Given the description of an element on the screen output the (x, y) to click on. 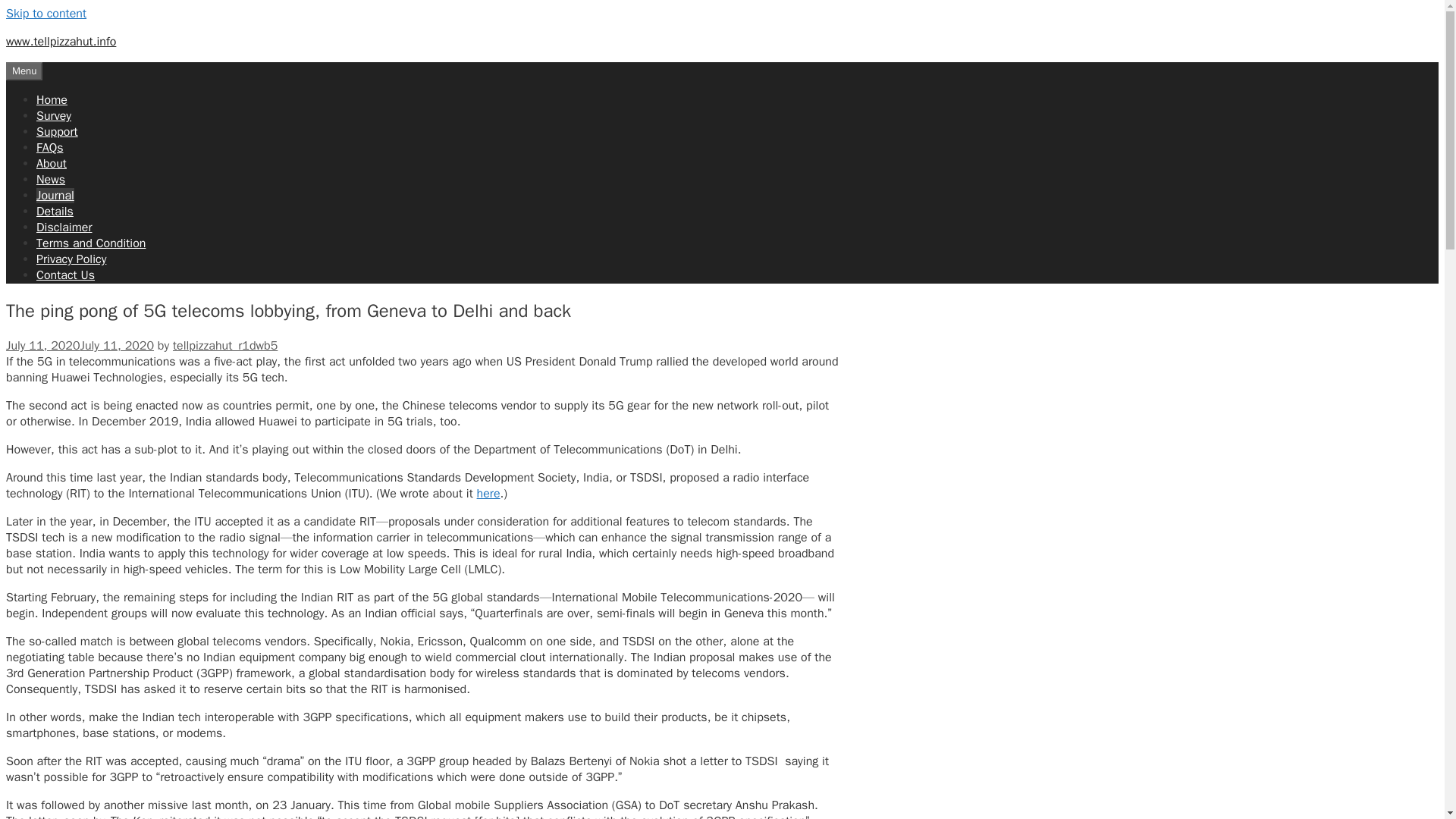
www.tellpizzahut.info (60, 41)
About (51, 163)
Contact Us (65, 274)
Support (57, 131)
Details (55, 211)
News (50, 179)
Home (51, 99)
Terms and Condition (90, 242)
Menu (23, 71)
Journal (55, 195)
